Given the description of an element on the screen output the (x, y) to click on. 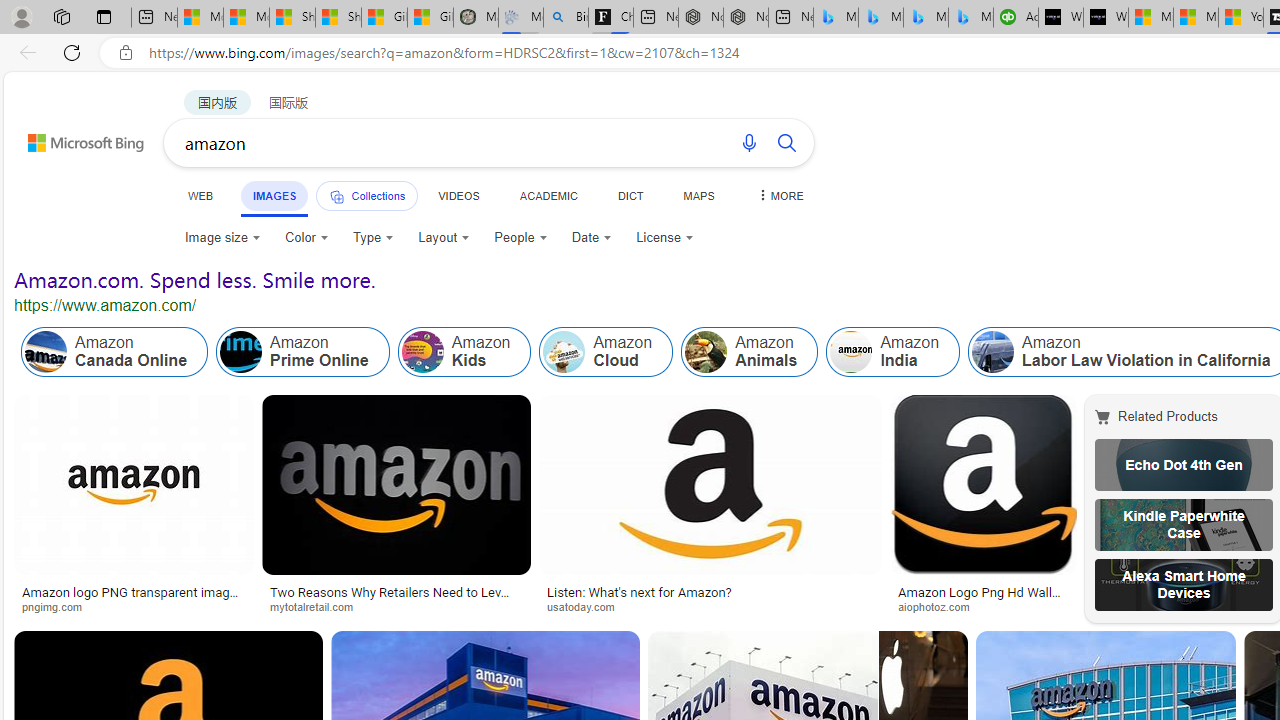
People (520, 237)
